Given the description of an element on the screen output the (x, y) to click on. 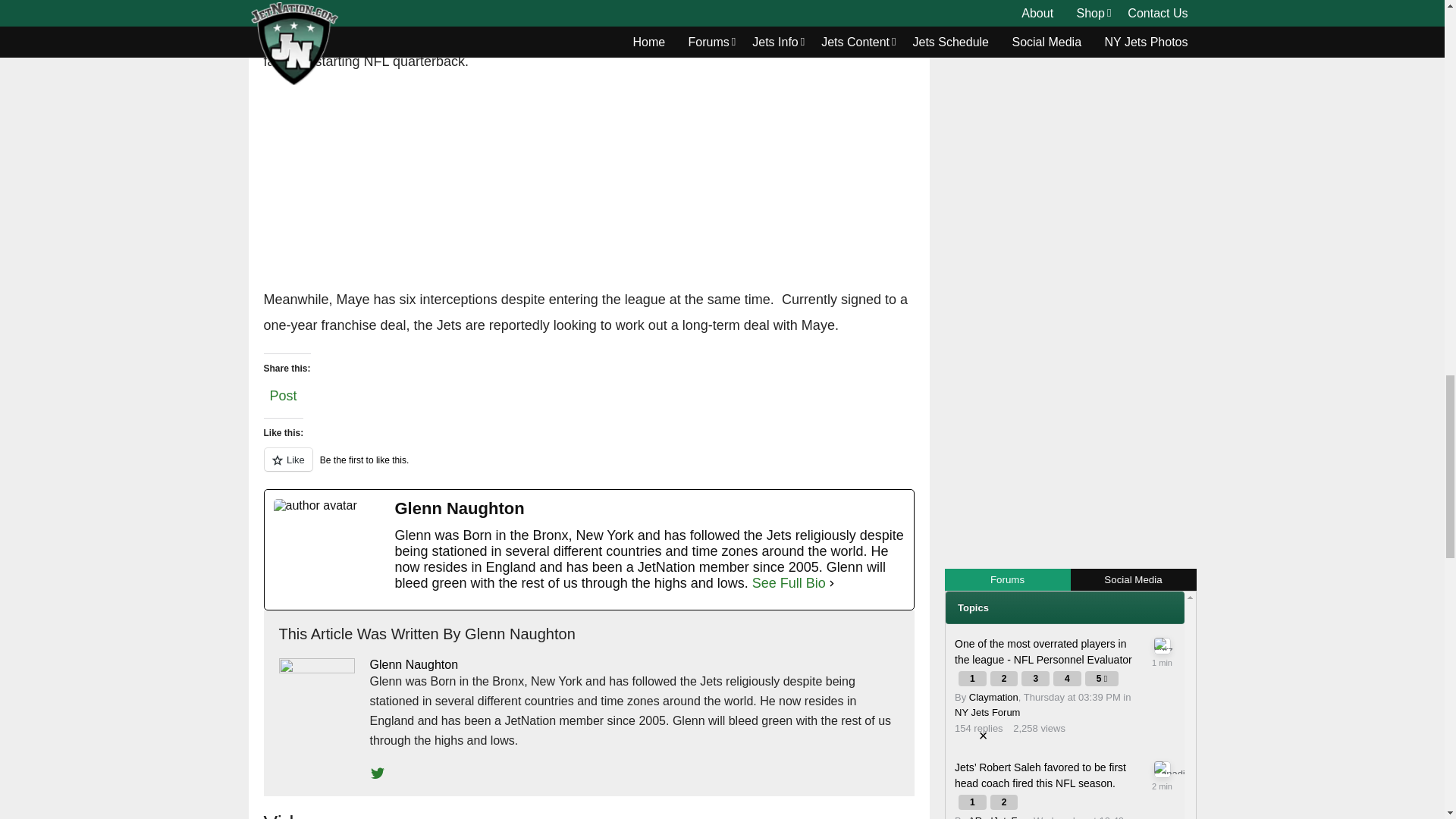
Like or Reblog (588, 467)
